Given the description of an element on the screen output the (x, y) to click on. 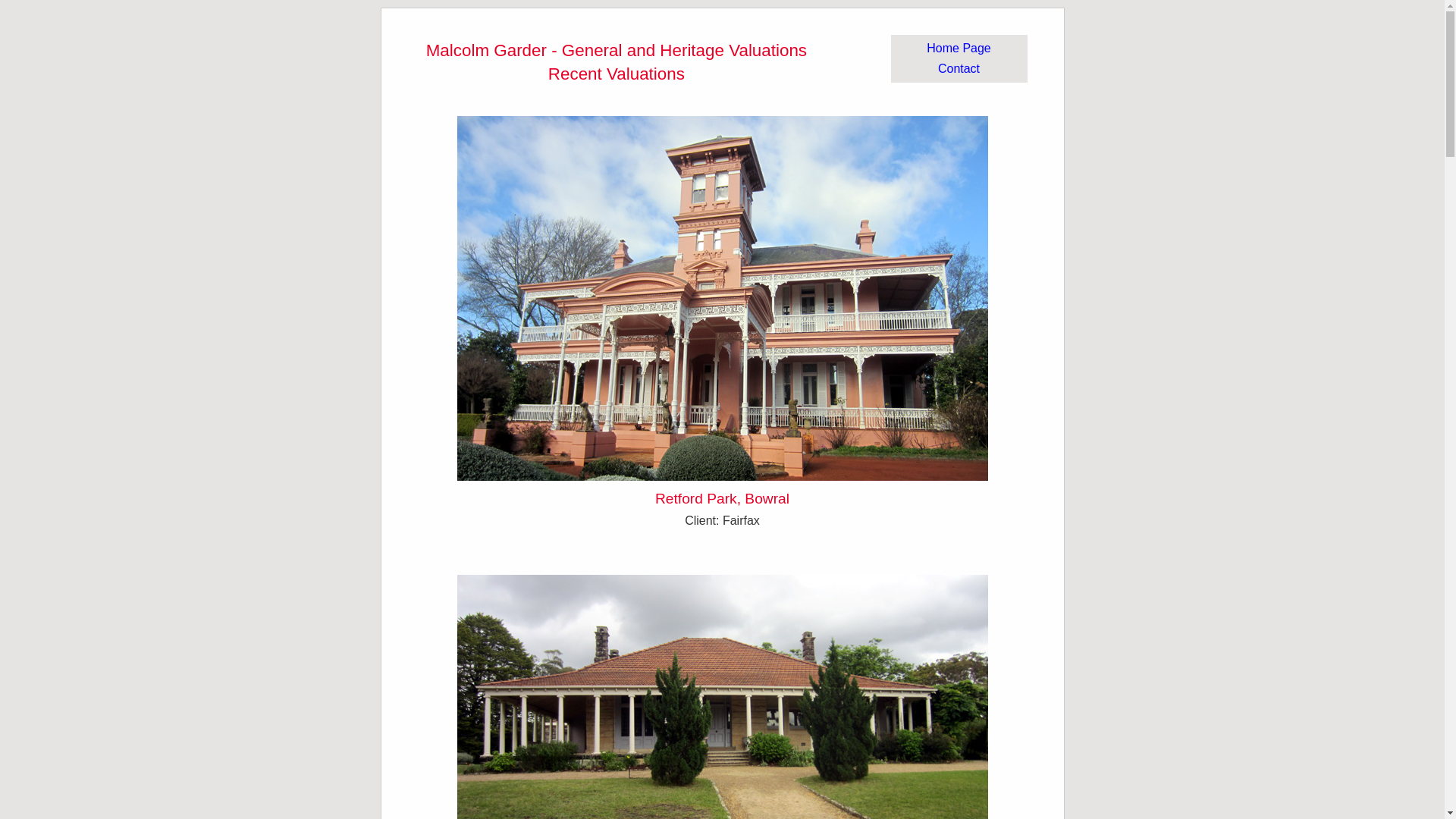
Home Page Element type: text (958, 47)
Contact Element type: text (958, 68)
